Given the description of an element on the screen output the (x, y) to click on. 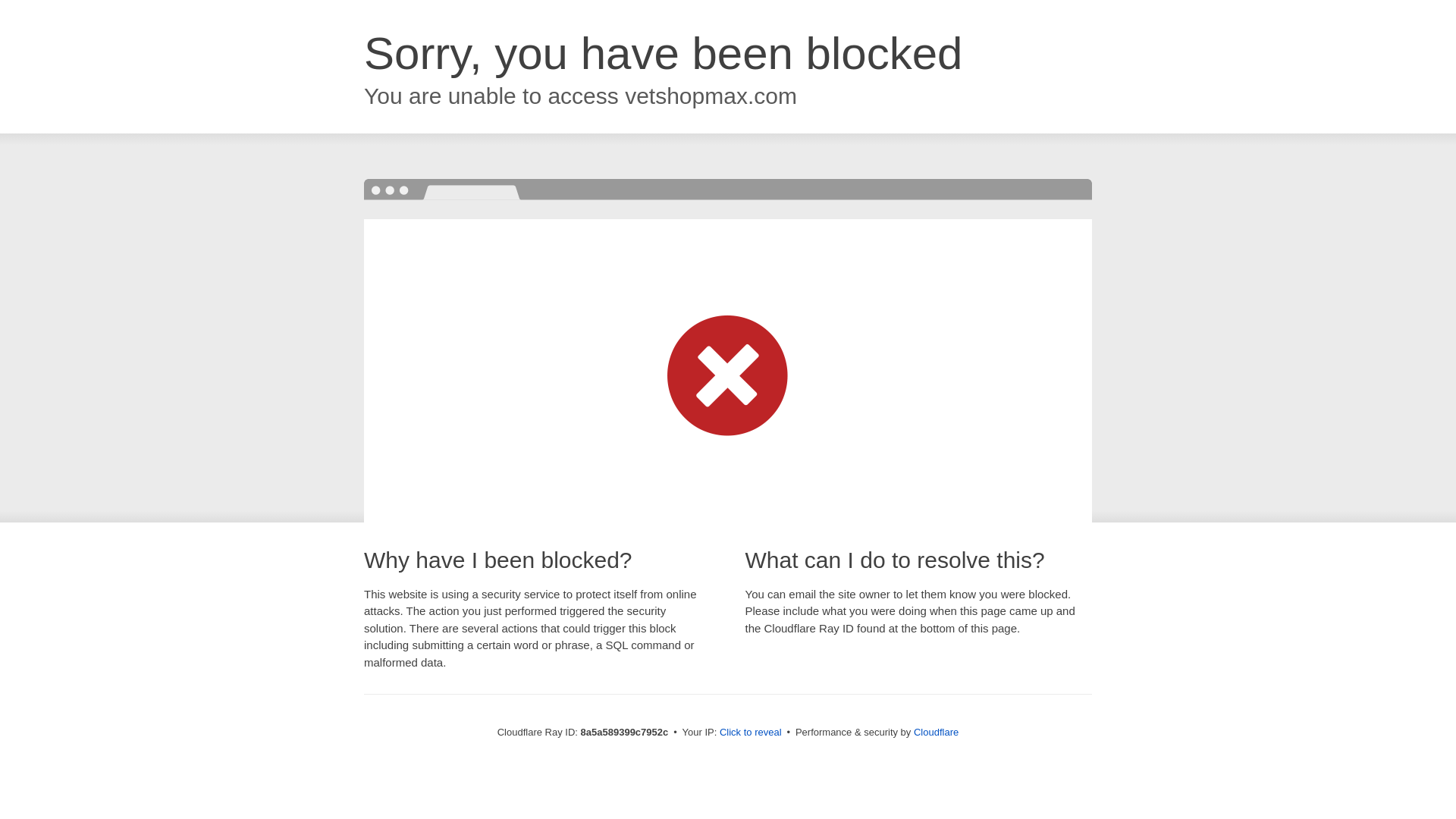
Click to reveal (750, 732)
Cloudflare (936, 731)
